Given the description of an element on the screen output the (x, y) to click on. 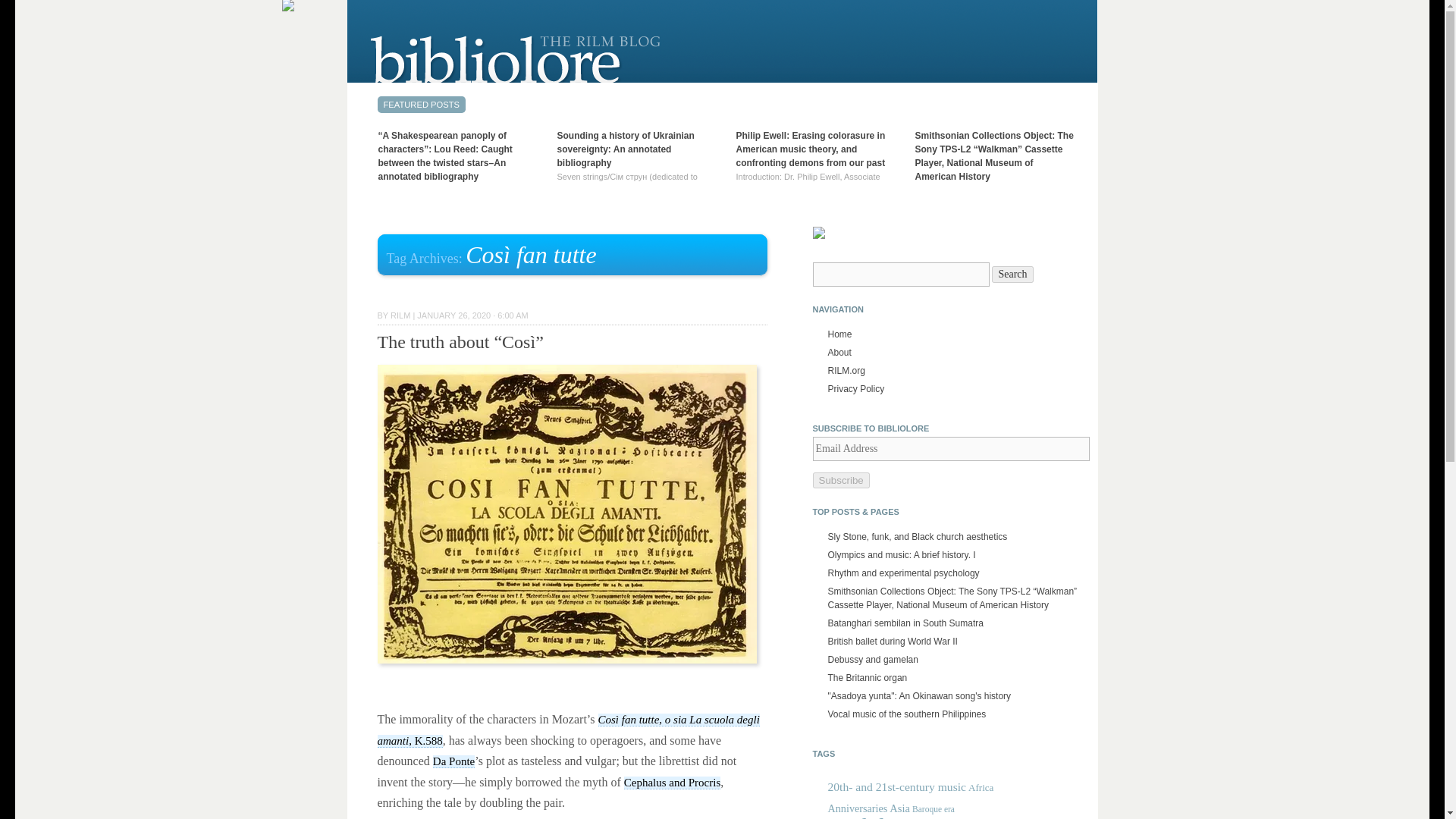
Rhythm and experimental psychology (903, 573)
Search (1011, 274)
The Britannic organ (867, 677)
Da Ponte (453, 761)
About (839, 352)
Search (1011, 274)
Home (839, 334)
Africa (980, 787)
Cephalus and Procris (672, 782)
Olympics and music: A brief history. I (901, 554)
